Given the description of an element on the screen output the (x, y) to click on. 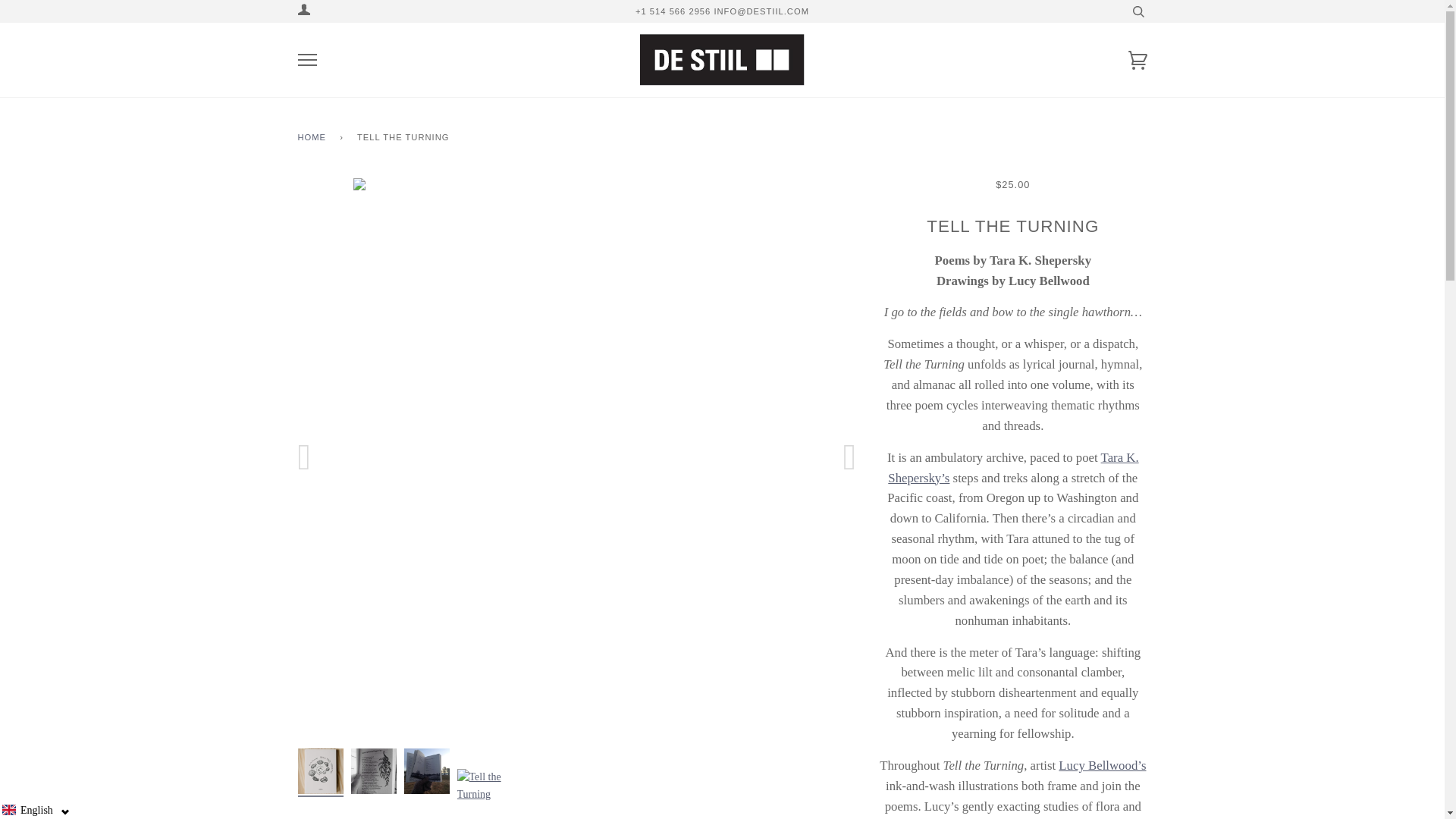
Search (1137, 11)
Back to the frontpage (314, 137)
Cart (1137, 66)
HOME (314, 137)
